Given the description of an element on the screen output the (x, y) to click on. 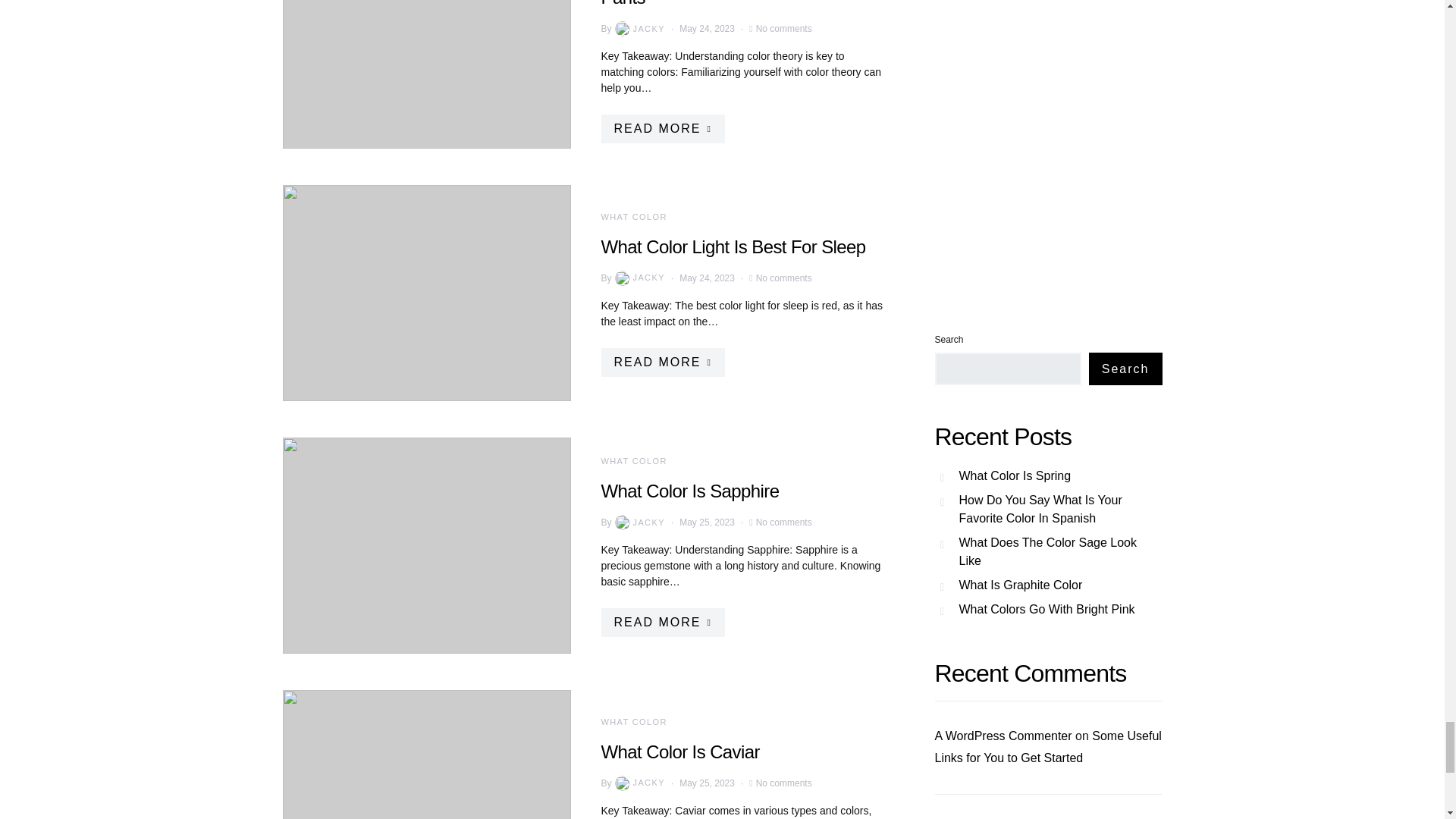
View all posts by Jacky (638, 277)
READ MORE (661, 128)
READ MORE (661, 361)
What Color Light Is Best For Sleep (731, 246)
No comments (783, 29)
View all posts by Jacky (638, 28)
JACKY (638, 277)
View all posts by Jacky (638, 522)
What Color Shirt Goes With Brown Pants (732, 3)
View all posts by Jacky (638, 782)
JACKY (638, 28)
WHAT COLOR (632, 216)
No comments (783, 278)
